Given the description of an element on the screen output the (x, y) to click on. 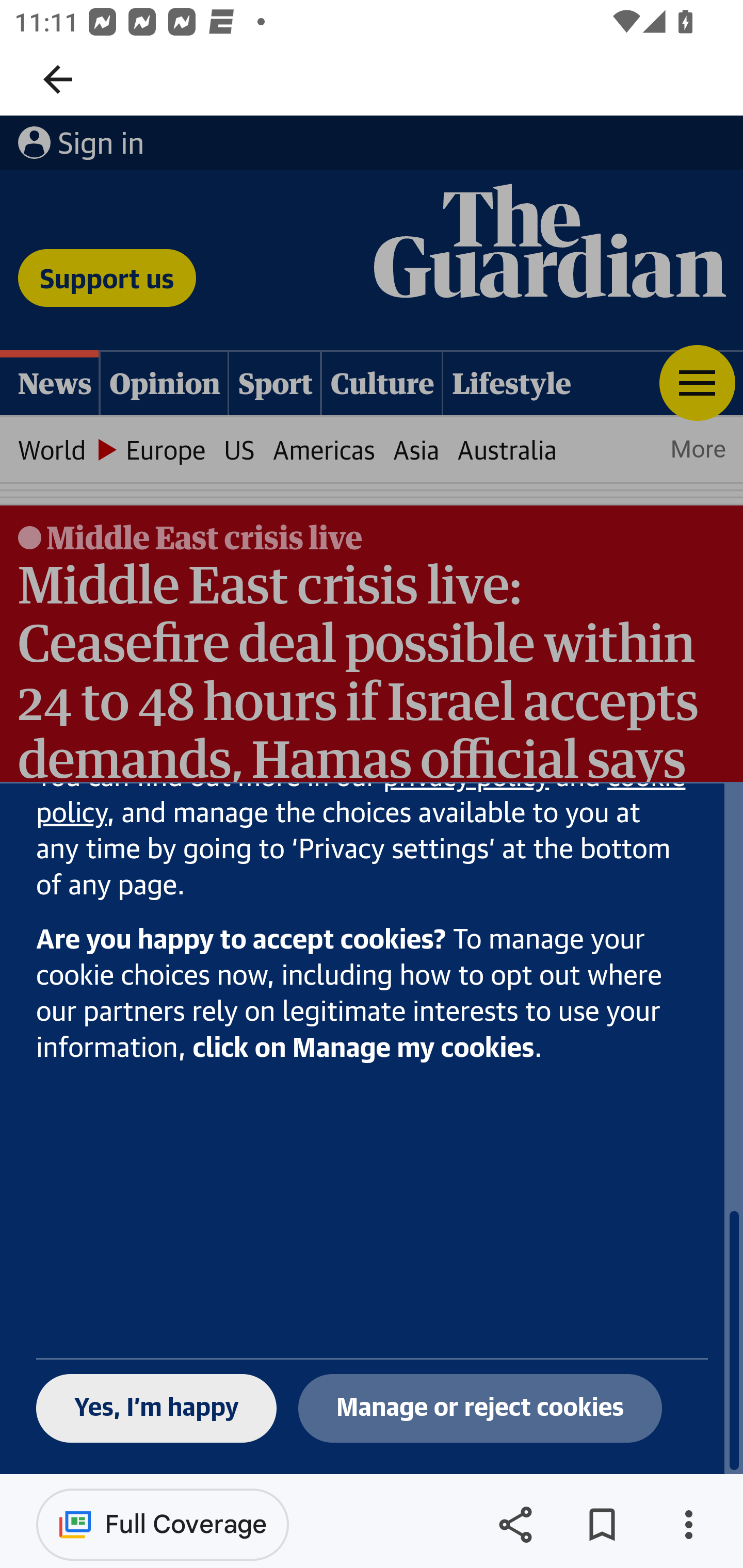
Navigate up (57, 79)
Yes, I’m happy (156, 1408)
Manage or reject cookies (479, 1408)
Share (514, 1524)
Save for later (601, 1524)
More options (688, 1524)
Full Coverage (162, 1524)
